Given the description of an element on the screen output the (x, y) to click on. 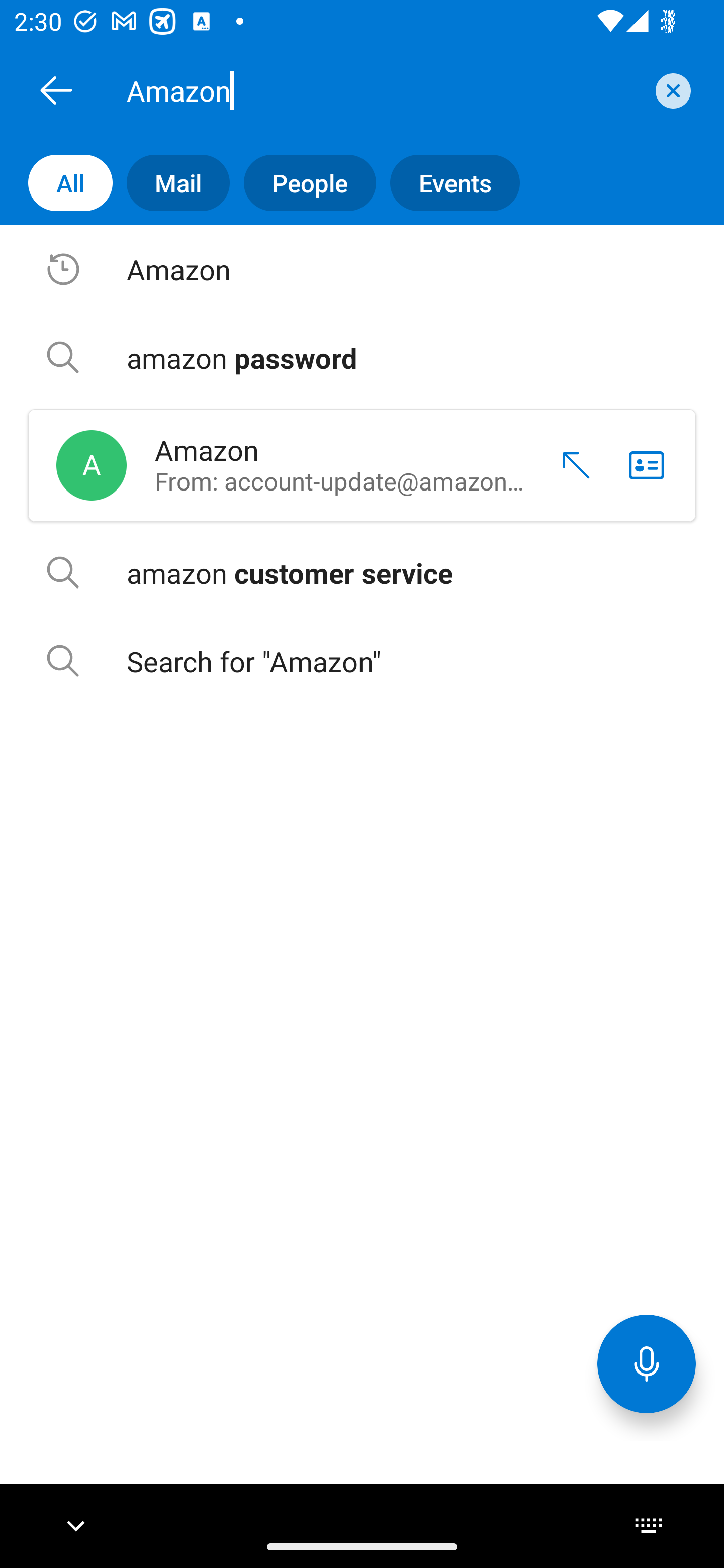
Back (55, 89)
Amazon (384, 89)
clear search (670, 90)
Mail (170, 183)
People (302, 183)
Events (447, 183)
Suggested search , Text, Amazon Amazon (362, 269)
Contact elevation (569, 465)
Contact Details (646, 465)
Voice Assistant (646, 1362)
